Given the description of an element on the screen output the (x, y) to click on. 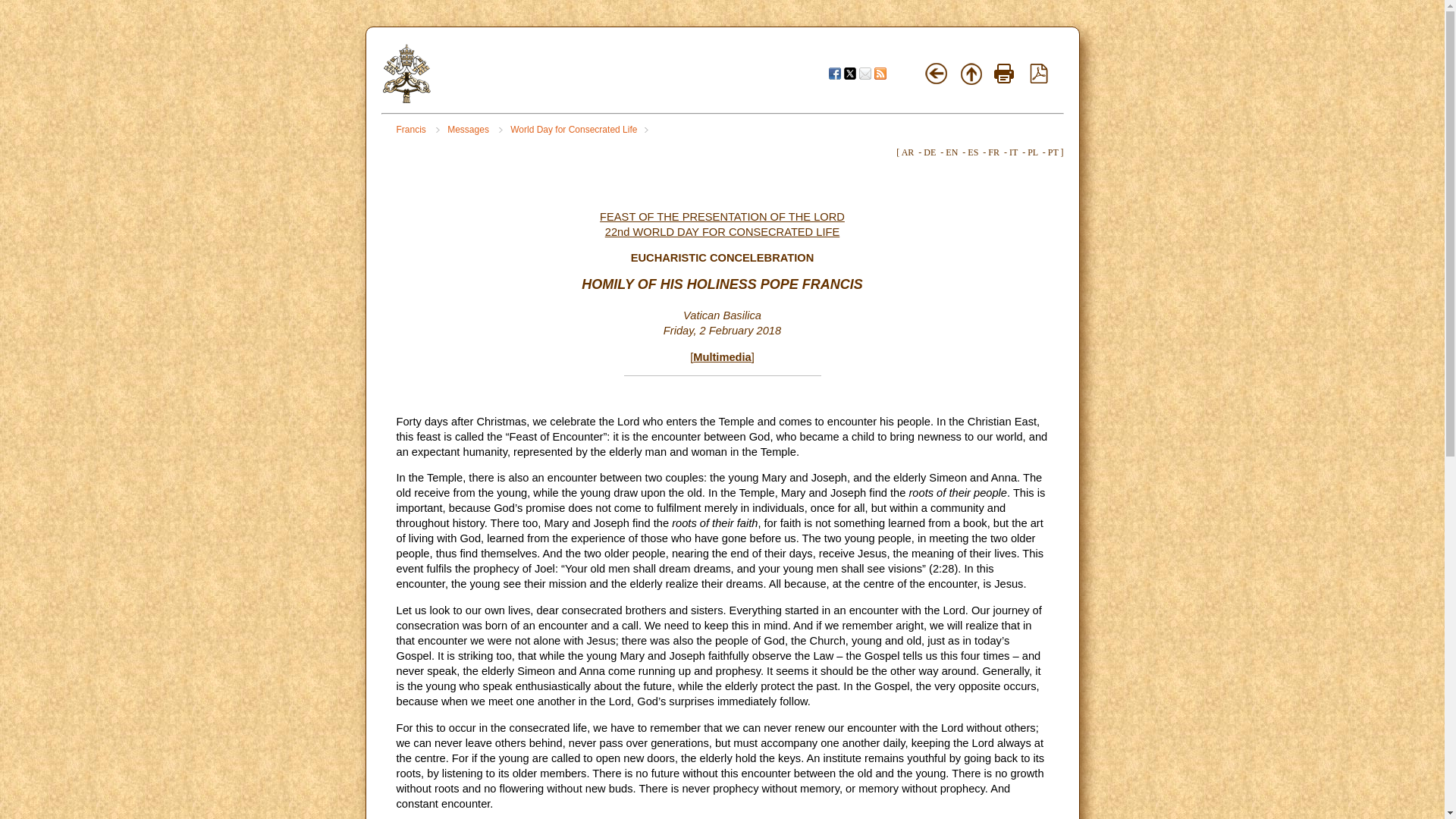
EN (951, 152)
Twitter (850, 73)
Facebook (834, 73)
Feed RSS (880, 73)
FR (993, 152)
Mail (864, 73)
World Day for Consecrated Life (579, 129)
AR (907, 152)
Back (936, 73)
Multimedia (722, 357)
Print (1003, 73)
Francis (417, 129)
Messages (474, 129)
pdf (1038, 73)
